Given the description of an element on the screen output the (x, y) to click on. 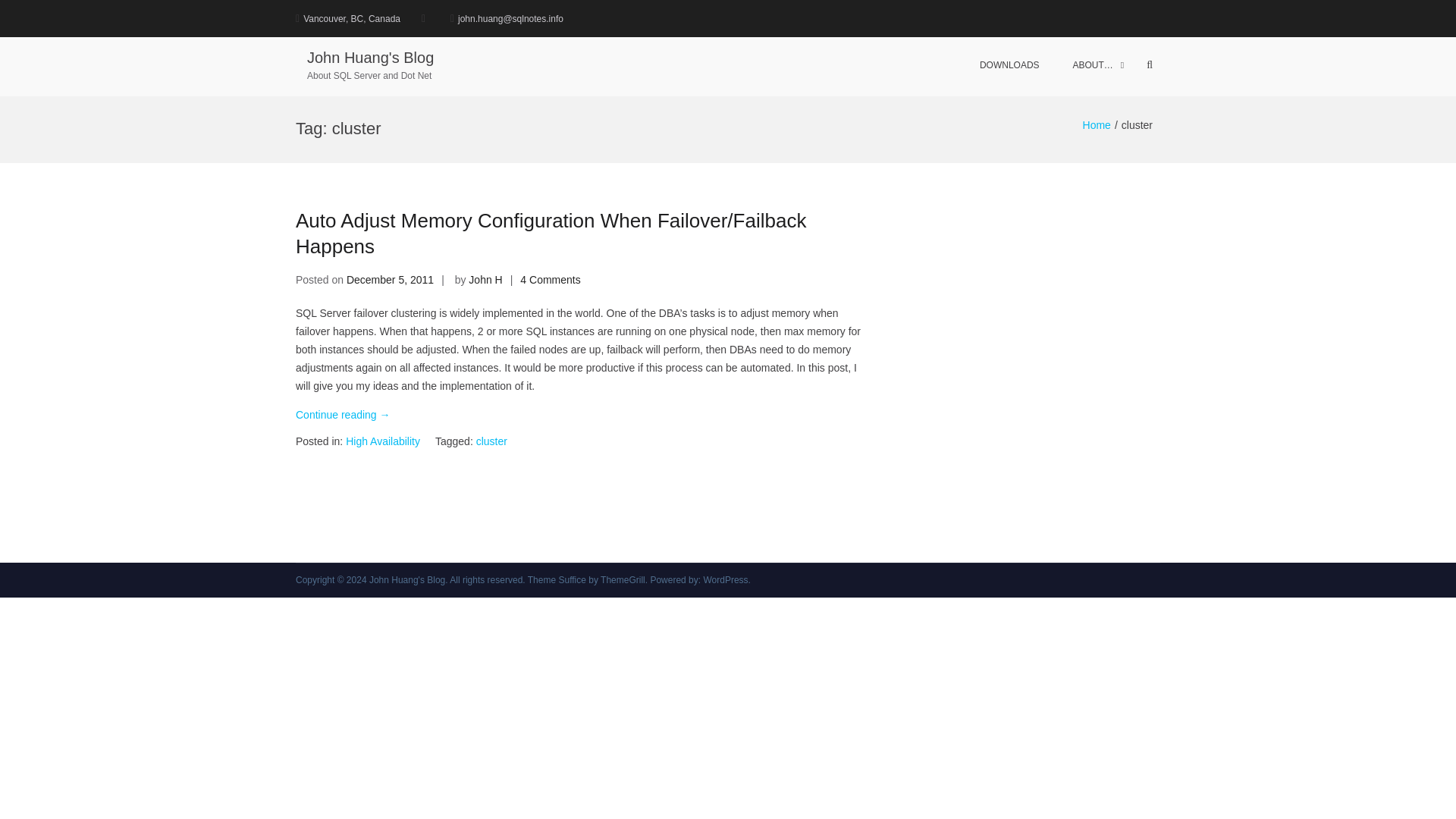
cluster (491, 440)
Search (1110, 145)
John H (485, 279)
High Availability (383, 440)
Home (1096, 124)
December 5, 2011 (389, 279)
Home (1096, 124)
DOWNLOADS (1008, 65)
John Huang's Blog (370, 57)
